Given the description of an element on the screen output the (x, y) to click on. 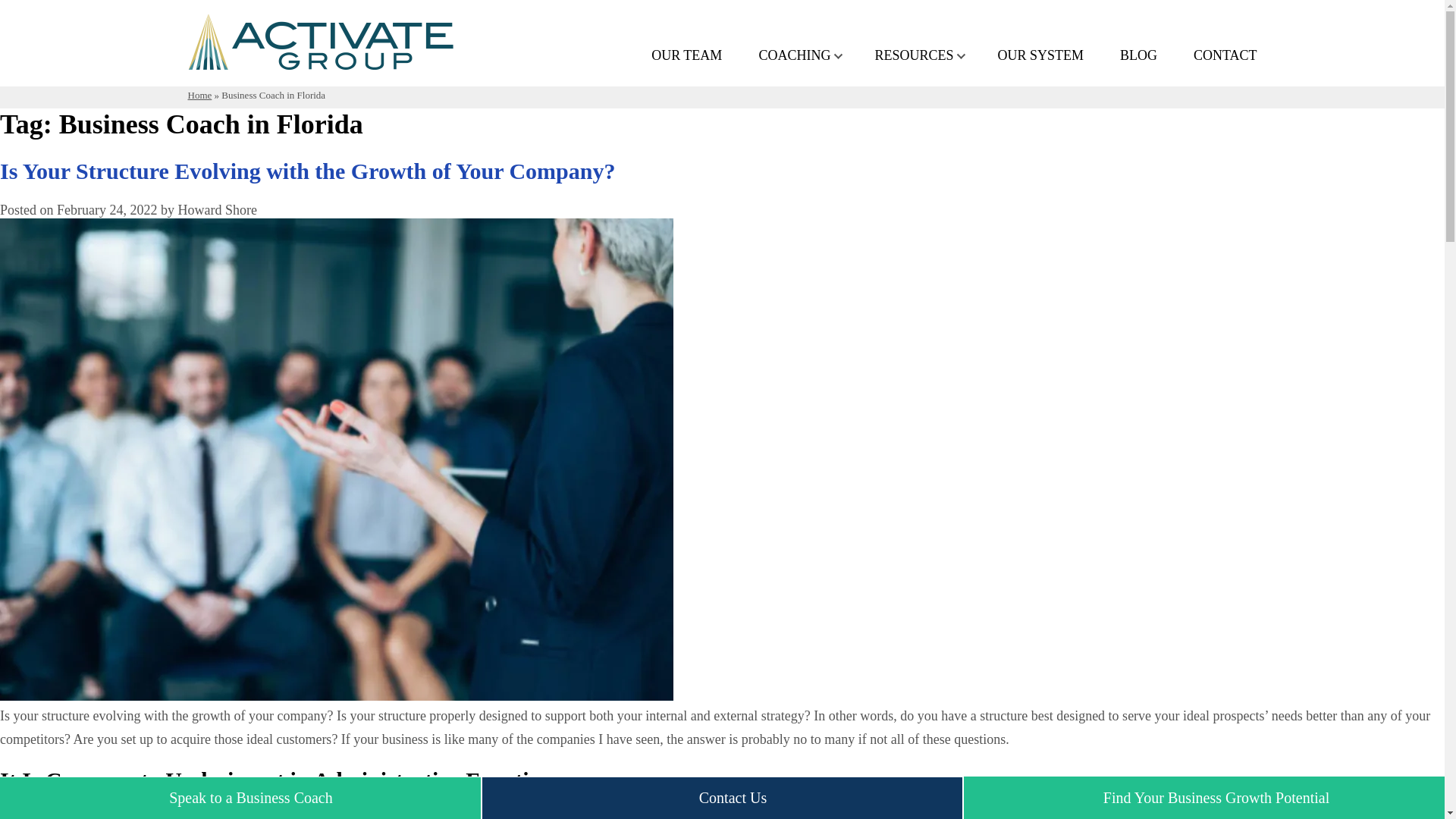
COACHING (793, 56)
Home (199, 94)
OUR TEAM (686, 56)
Is Your Structure Evolving with the Growth of Your Company? (307, 170)
BLOG (1138, 56)
RESOURCES (914, 56)
Activate Group (319, 64)
OUR SYSTEM (1040, 56)
CONTACT (1225, 56)
